Given the description of an element on the screen output the (x, y) to click on. 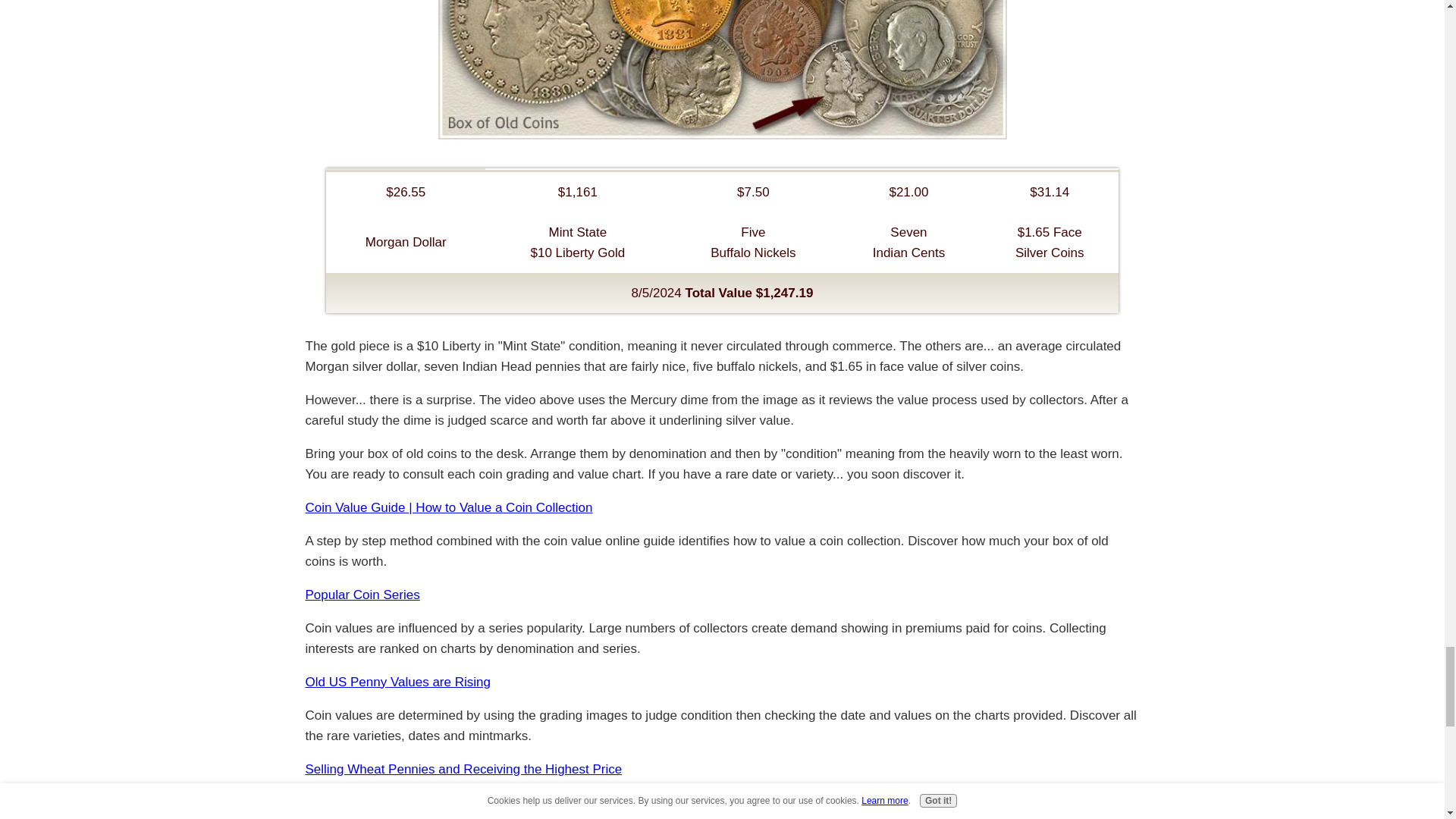
Examples From a Box of Old Coins and Their Values (722, 69)
